Given the description of an element on the screen output the (x, y) to click on. 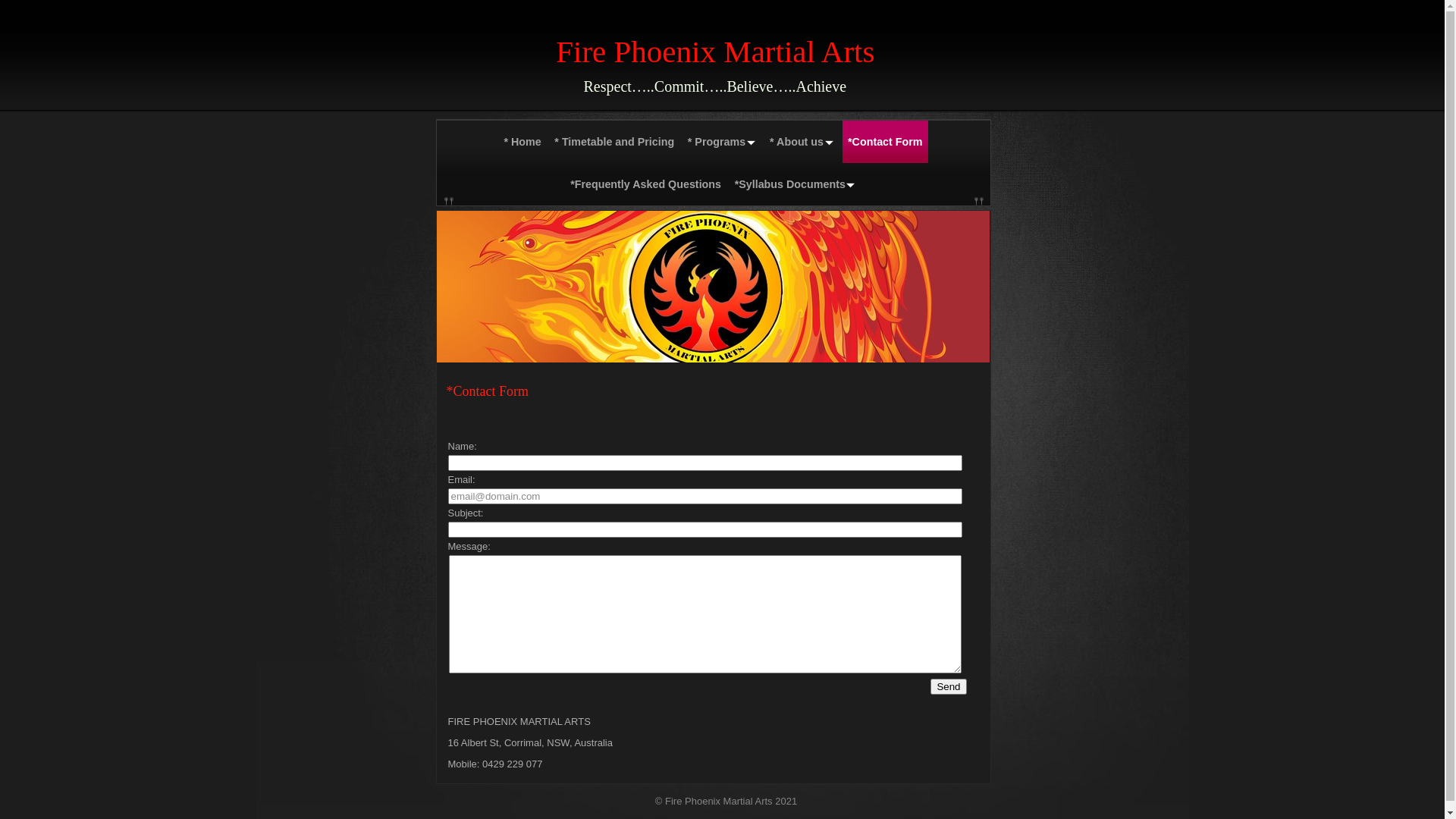
* About us Element type: text (801, 141)
email@domain.com Element type: hover (704, 496)
*Syllabus Documents Element type: text (795, 184)
Send Element type: text (948, 686)
* Home Element type: text (522, 141)
*Frequently Asked Questions Element type: text (645, 184)
* Timetable and Pricing Element type: text (614, 141)
* Programs Element type: text (721, 141)
               Fire Phoenix Martial Arts Element type: text (657, 55)
